Given the description of an element on the screen output the (x, y) to click on. 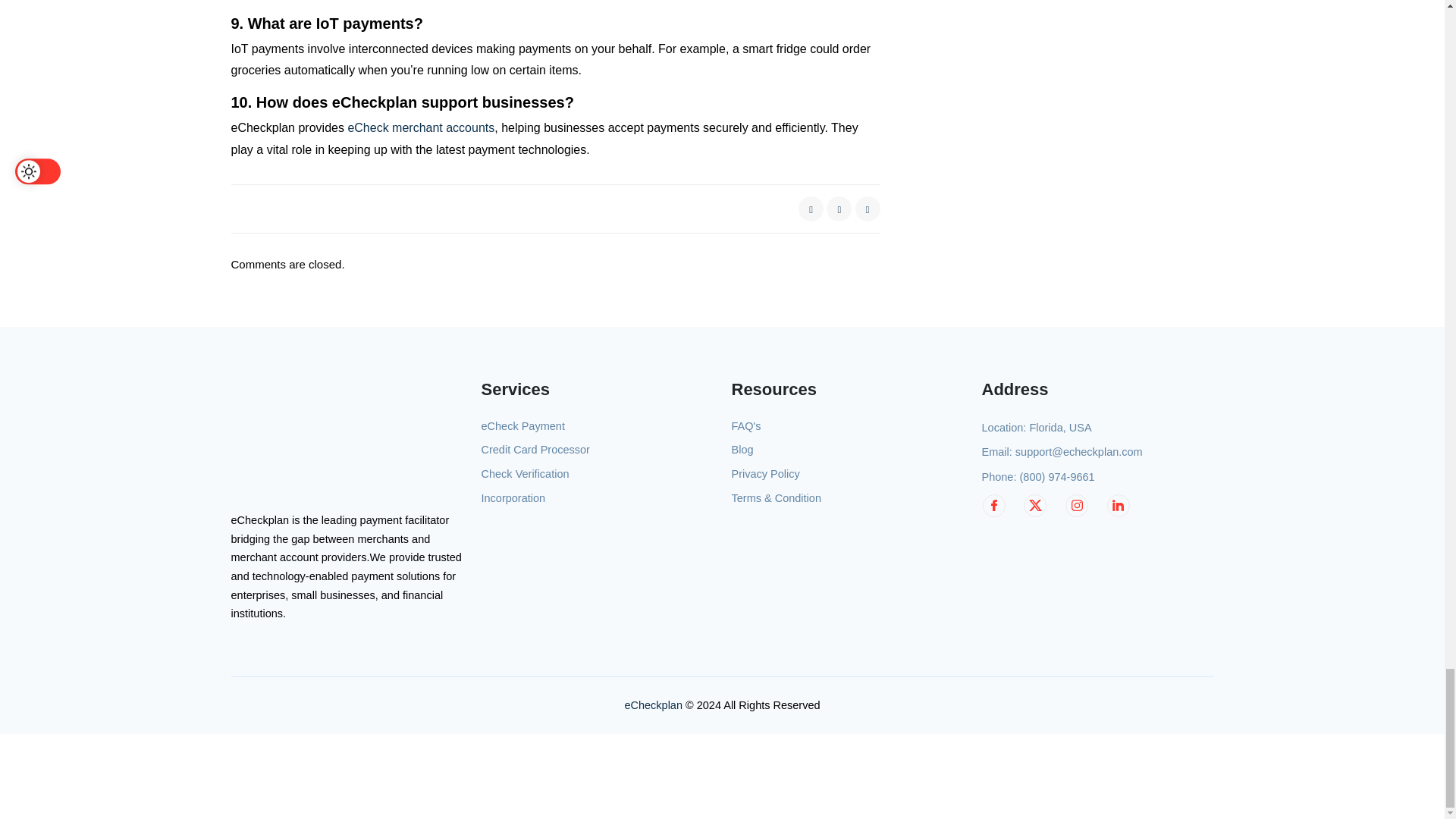
eCheck merchant accounts (421, 127)
eCheck Payment (522, 426)
Credit Card Processor (534, 450)
eCheck merchant accounts (421, 127)
